Given the description of an element on the screen output the (x, y) to click on. 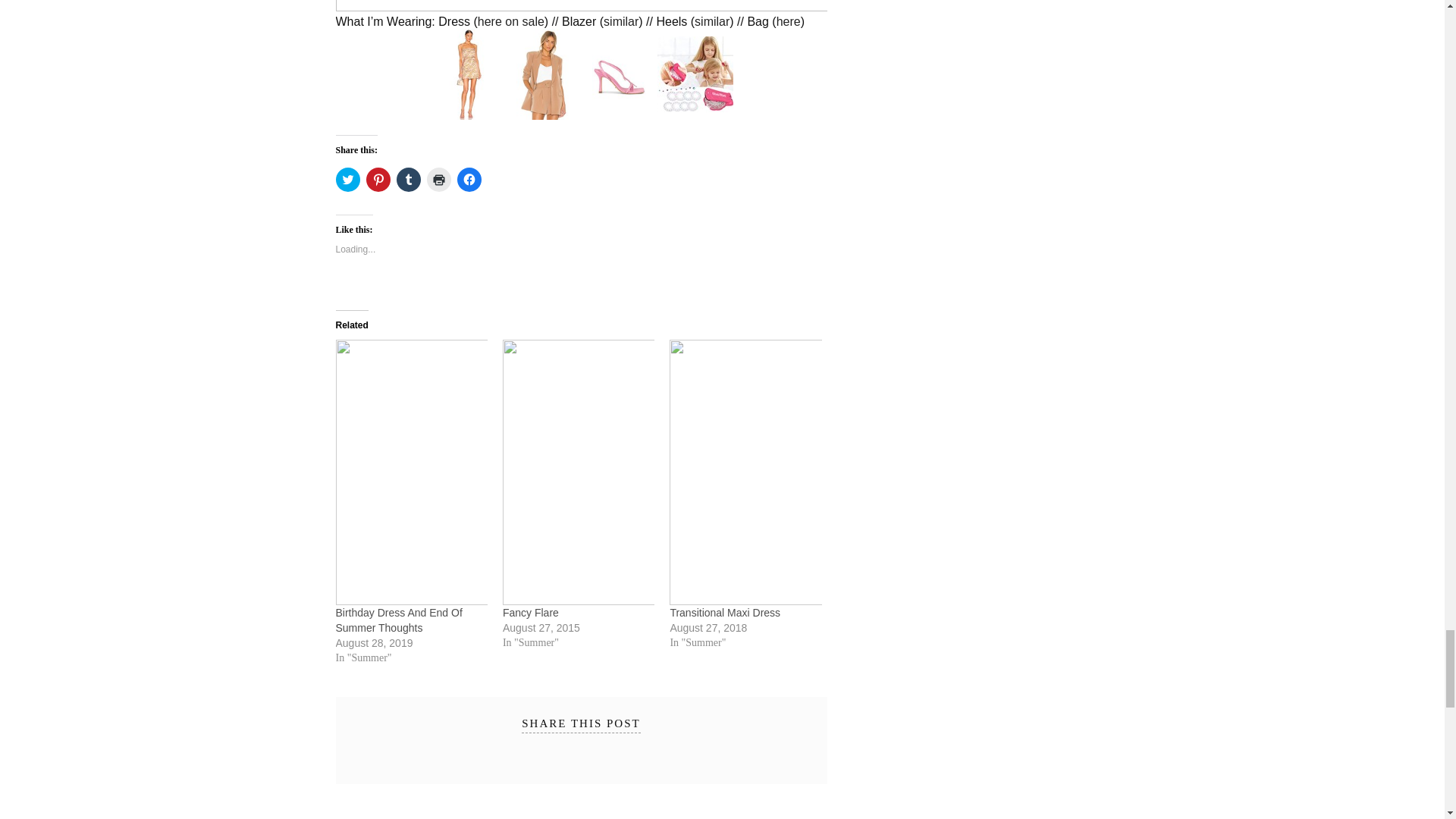
Fancy Flare (530, 612)
Click to print (437, 179)
Click to share on Twitter (346, 179)
Transitional Maxi Dress (745, 472)
Click to share on Tumblr (408, 179)
Transitional Maxi Dress (724, 612)
Click to share on Pinterest (377, 179)
Click to share on Facebook (468, 179)
Birthday Dress And End Of Summer Thoughts (410, 472)
Birthday Dress And End Of Summer Thoughts (397, 619)
Fancy Flare (577, 472)
